Given the description of an element on the screen output the (x, y) to click on. 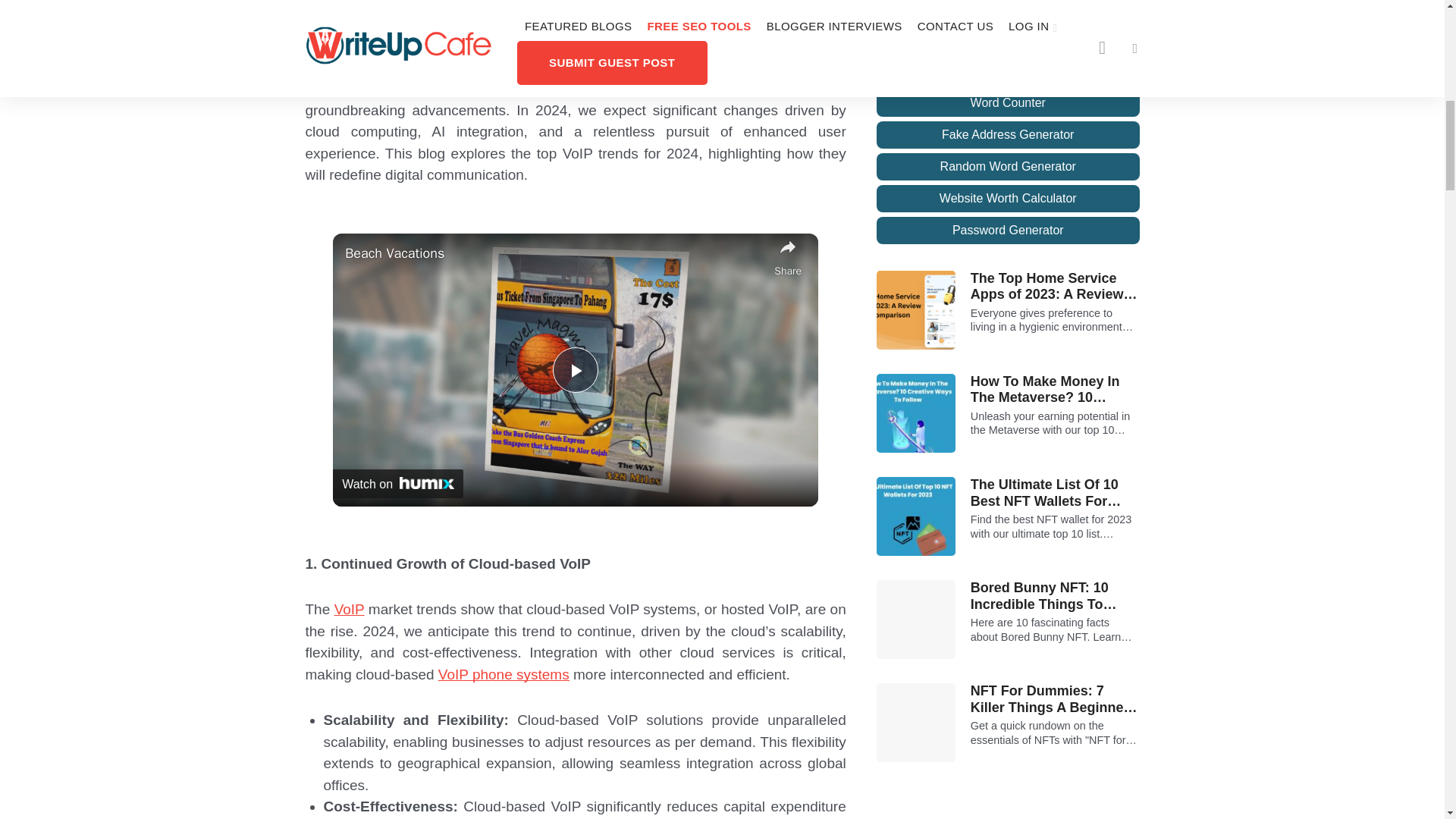
report (351, 64)
VoIP (796, 88)
VoIP phone systems (503, 673)
Play Video (575, 370)
Watch on (398, 482)
Play Video (575, 370)
VoIP (349, 609)
Beach Vacations (556, 253)
